Given the description of an element on the screen output the (x, y) to click on. 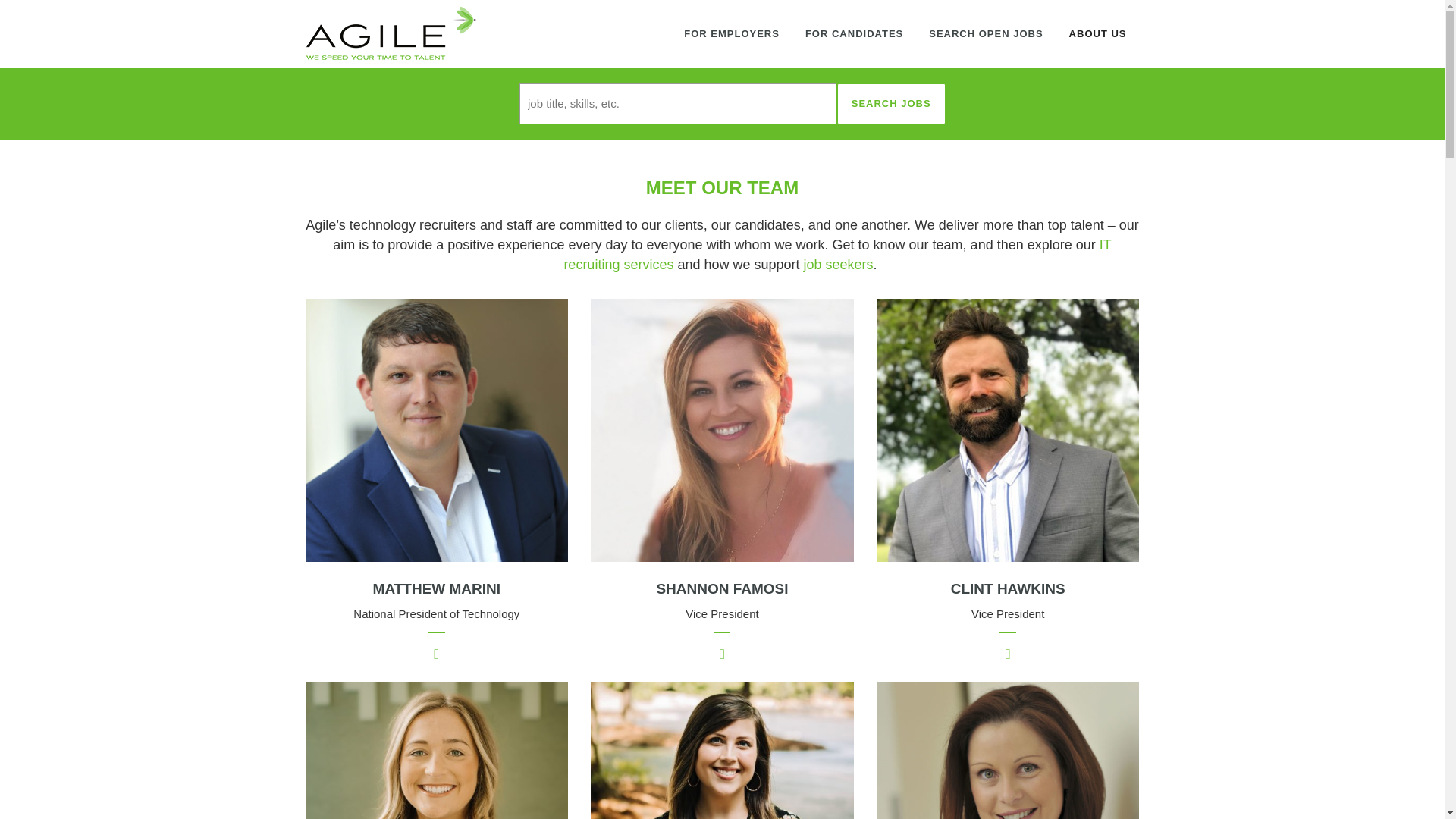
SEARCH OPEN JOBS (985, 33)
ABOUT US (1098, 33)
FOR EMPLOYERS (731, 33)
FOR CANDIDATES (853, 33)
Keywords (722, 33)
